Given the description of an element on the screen output the (x, y) to click on. 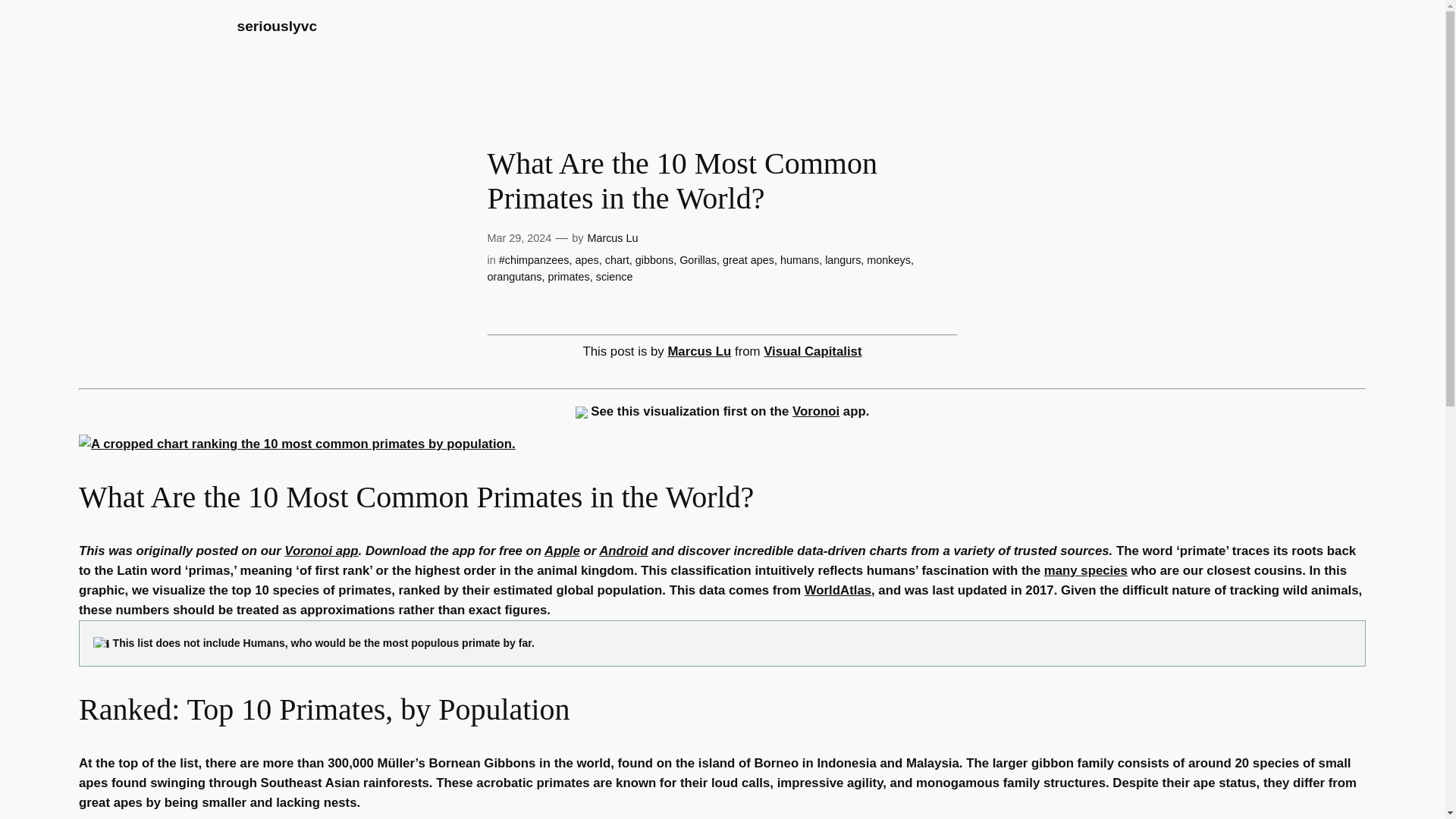
seriouslyvc (276, 26)
Marcus Lu (698, 350)
humans (799, 259)
Voronoi (816, 411)
Read other posts by Marcus Lu (698, 350)
gibbons (653, 259)
Voronoi app (320, 550)
Android (622, 550)
apes (586, 259)
monkeys (888, 259)
